Given the description of an element on the screen output the (x, y) to click on. 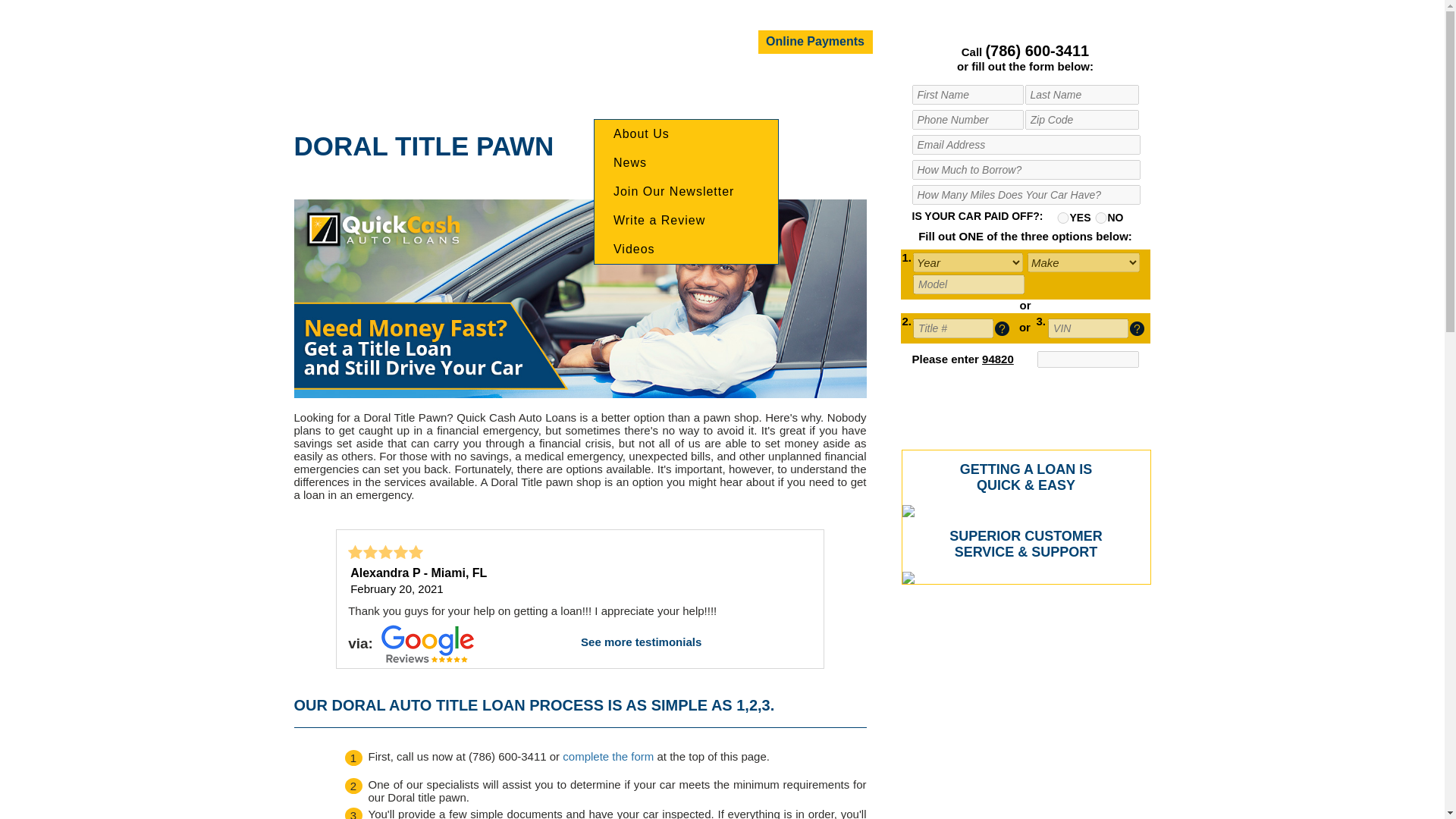
Company (635, 84)
Call Quick Cash Auto Loans (1037, 50)
News (685, 162)
Testimonials (917, 84)
Join Our Newsletter (685, 191)
Miami Auto Title Loans (562, 84)
Company (635, 84)
Write a Review (685, 220)
complete the form (609, 756)
Home (562, 84)
